Given the description of an element on the screen output the (x, y) to click on. 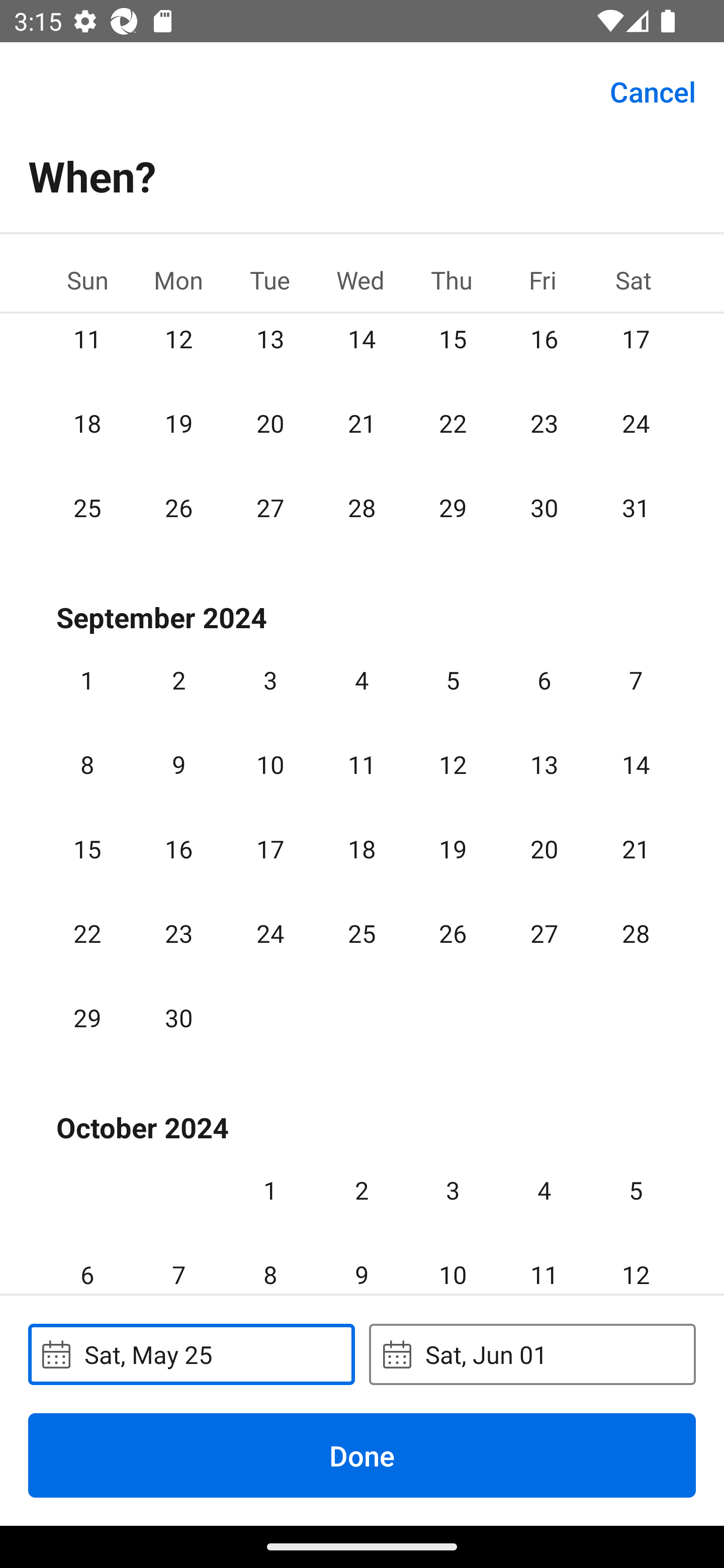
Cancel (652, 90)
Sat, May 25 (191, 1353)
Sat, Jun 01 (532, 1353)
Done (361, 1454)
